Given the description of an element on the screen output the (x, y) to click on. 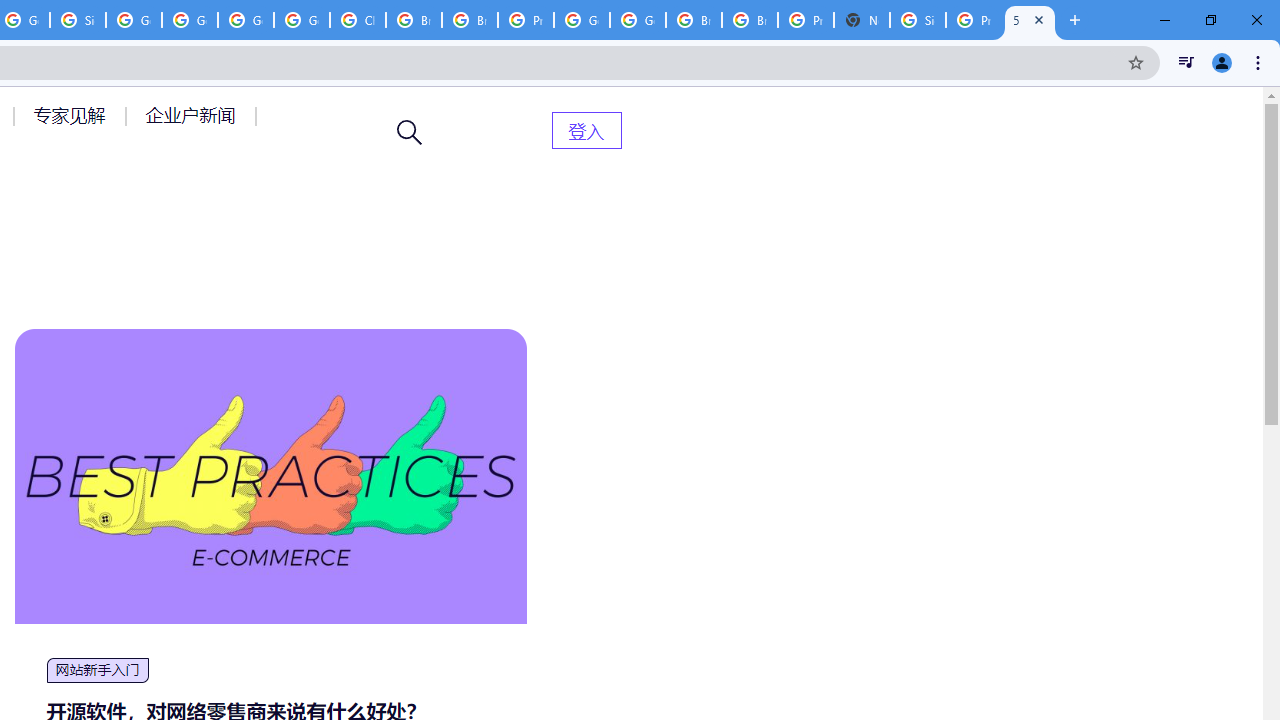
New Tab (861, 20)
Minimize (1165, 20)
